Given the description of an element on the screen output the (x, y) to click on. 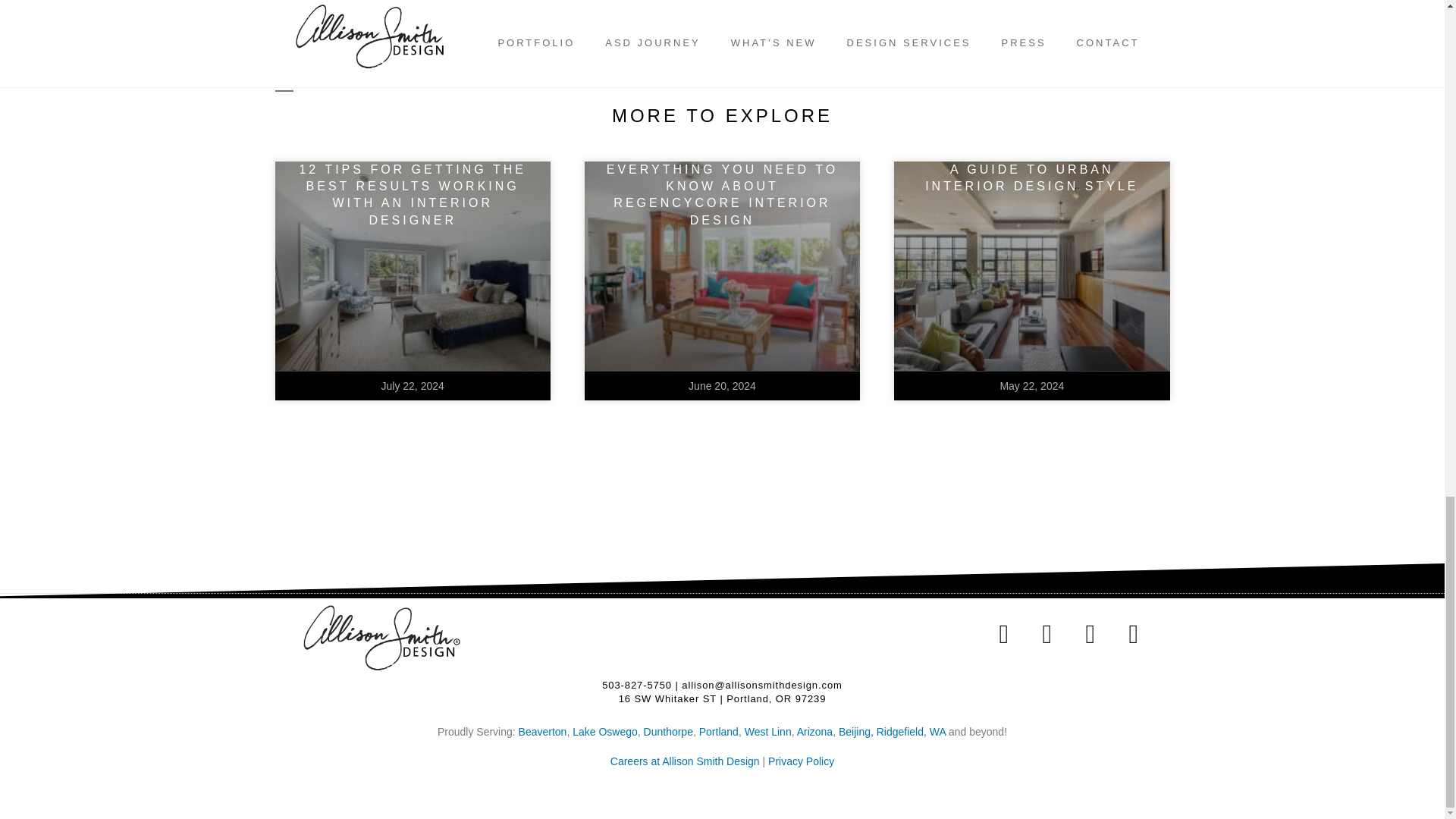
Dunthorpe (668, 731)
Beaverton (542, 731)
Lake Oswego (604, 731)
A GUIDE TO URBAN INTERIOR DESIGN STYLE (1031, 177)
